Given the description of an element on the screen output the (x, y) to click on. 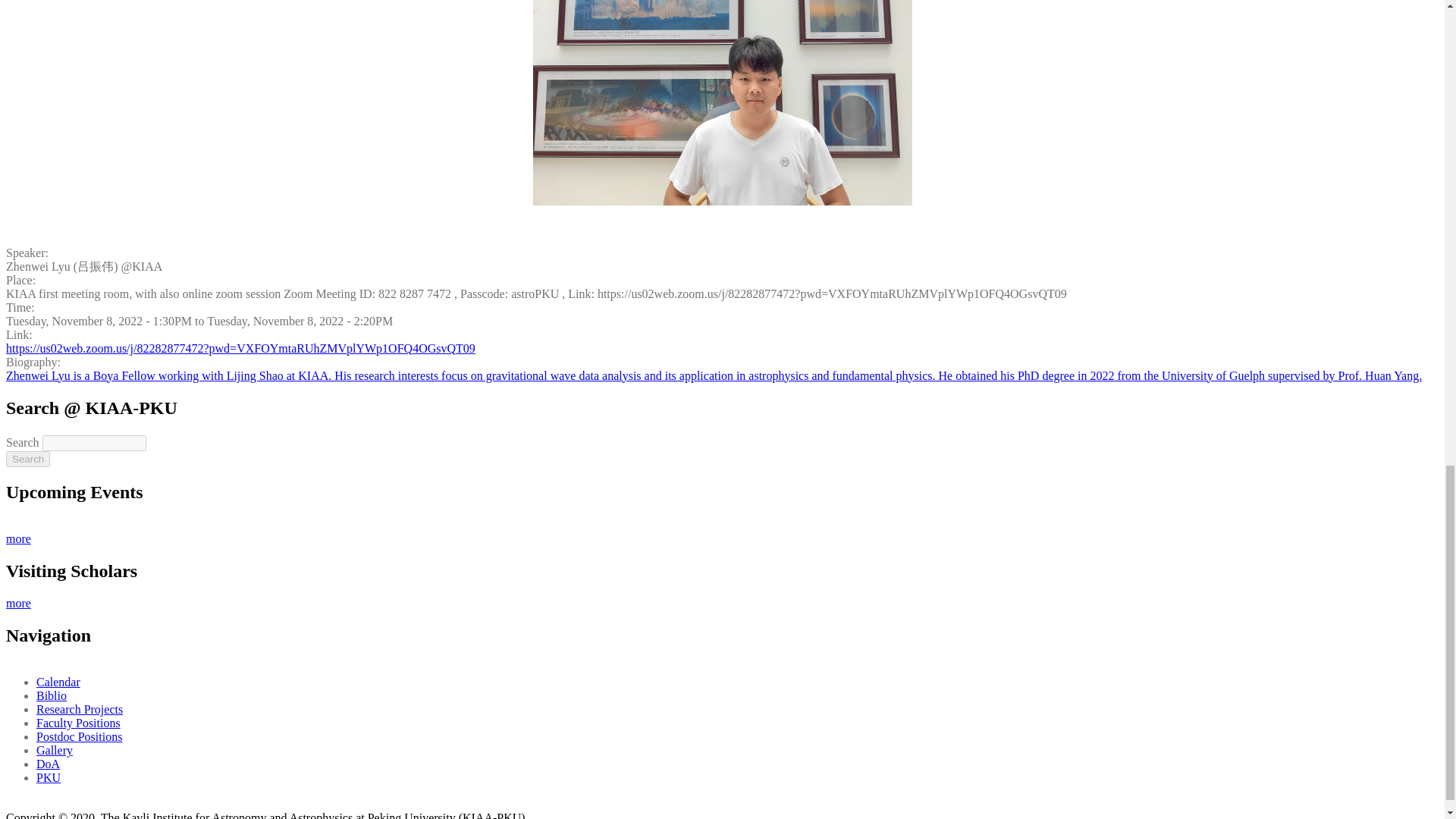
Enter the terms you wish to search for. (94, 442)
Search (27, 458)
